Given the description of an element on the screen output the (x, y) to click on. 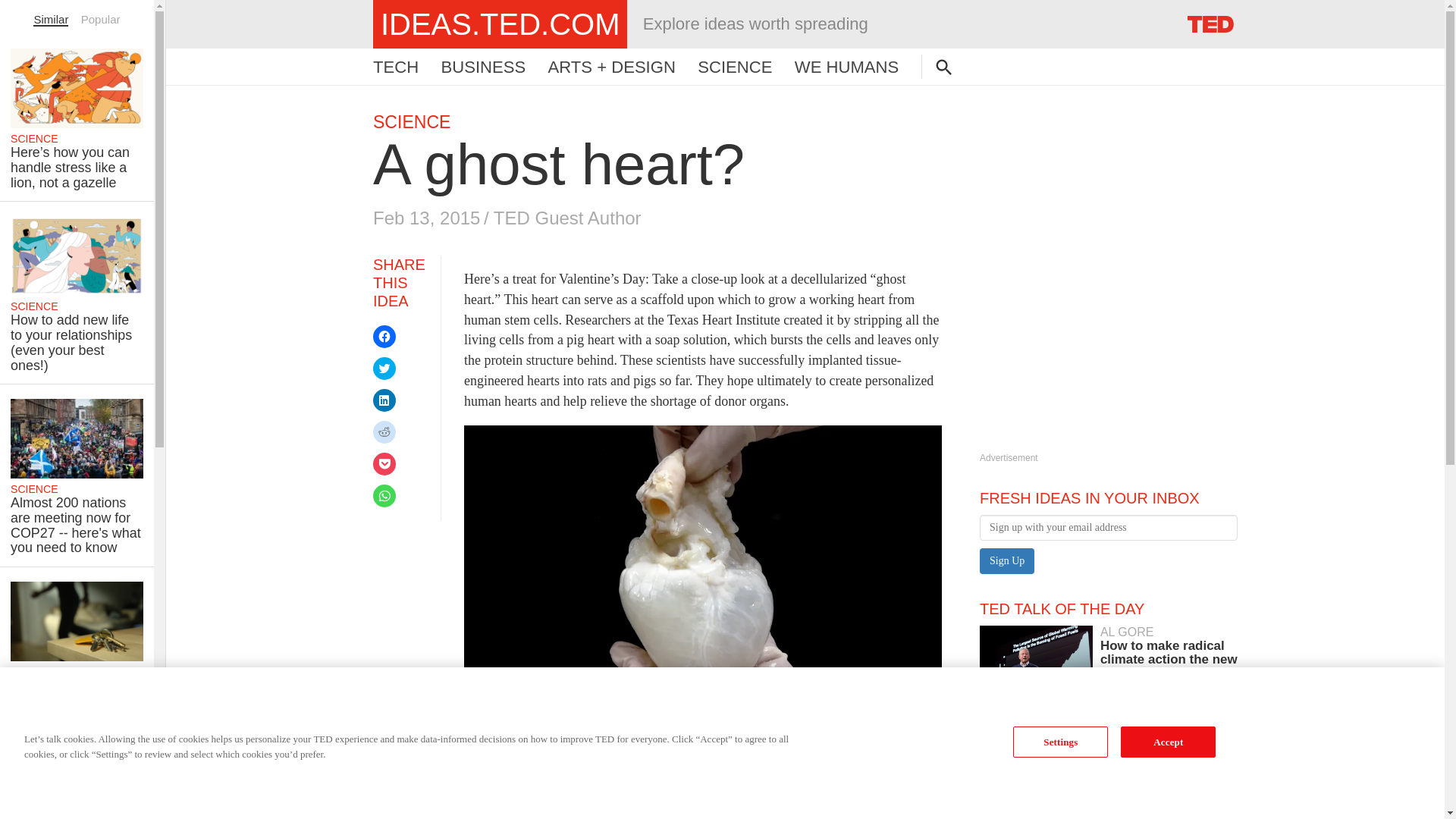
Popular (100, 19)
Click to share on Twitter (384, 368)
TED Guest Author (567, 218)
Sign Up (1006, 560)
Click to share on LinkedIn (384, 400)
Nook (734, 755)
SCIENCE (410, 121)
download the TED Books app (628, 775)
Similar (50, 19)
Click to share on Facebook (384, 336)
WE HUMANS (846, 66)
TECH (1108, 653)
BUSINESS (1108, 793)
